Given the description of an element on the screen output the (x, y) to click on. 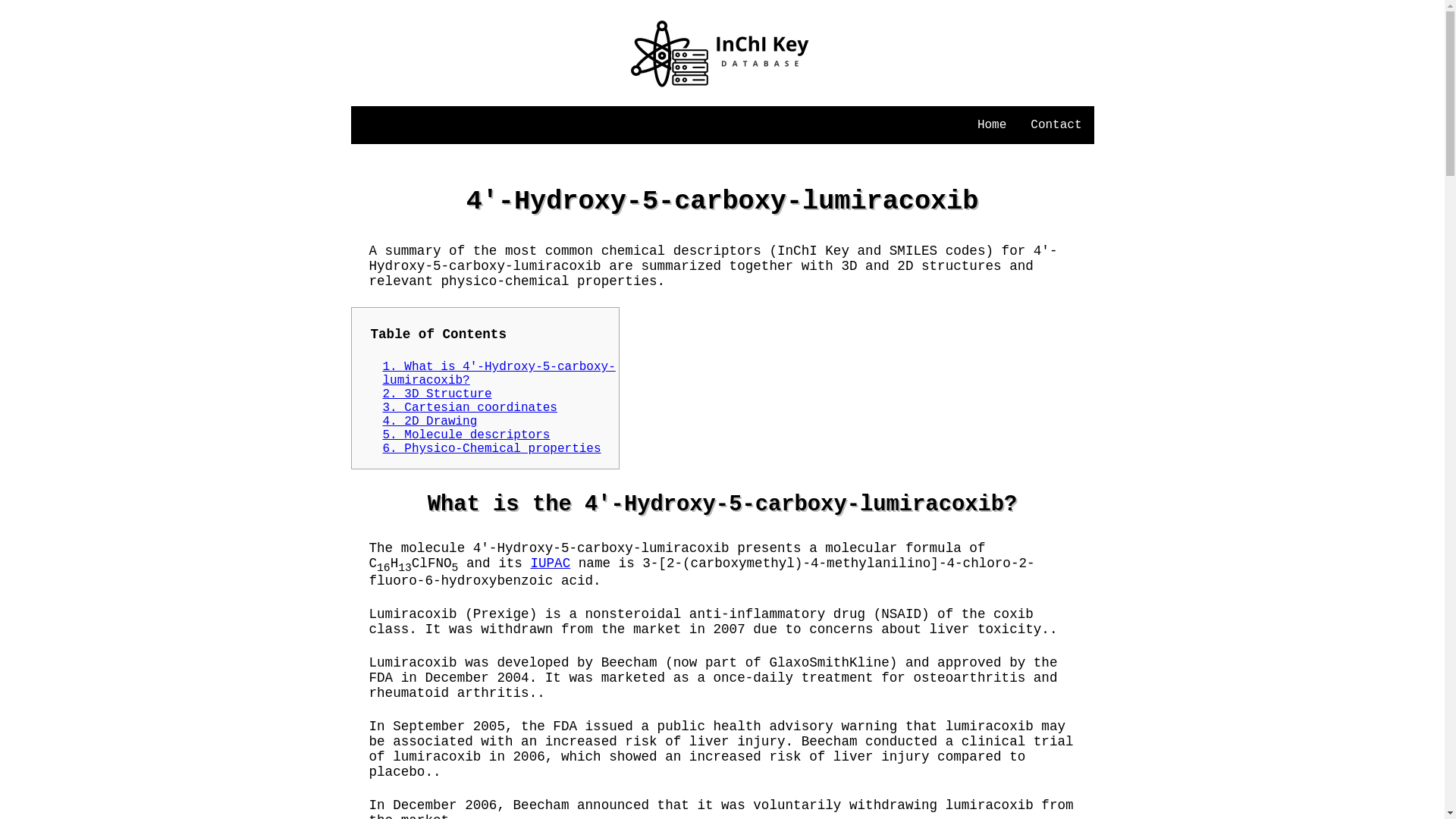
Home (991, 125)
2. 3D Structure (436, 394)
IUPAC (549, 563)
4. 2D Drawing (429, 421)
Contact (1055, 125)
1. What is 4'-Hydroxy-5-carboxy-lumiracoxib? (497, 373)
3. Cartesian coordinates (468, 407)
5. Molecule descriptors (465, 435)
6. Physico-Chemical properties (490, 448)
